Given the description of an element on the screen output the (x, y) to click on. 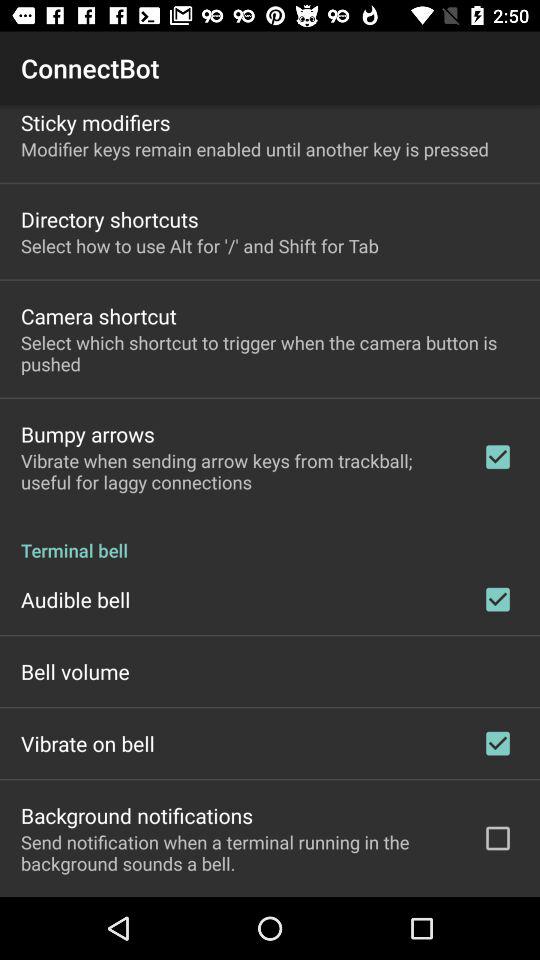
click the send notification when icon (238, 852)
